Given the description of an element on the screen output the (x, y) to click on. 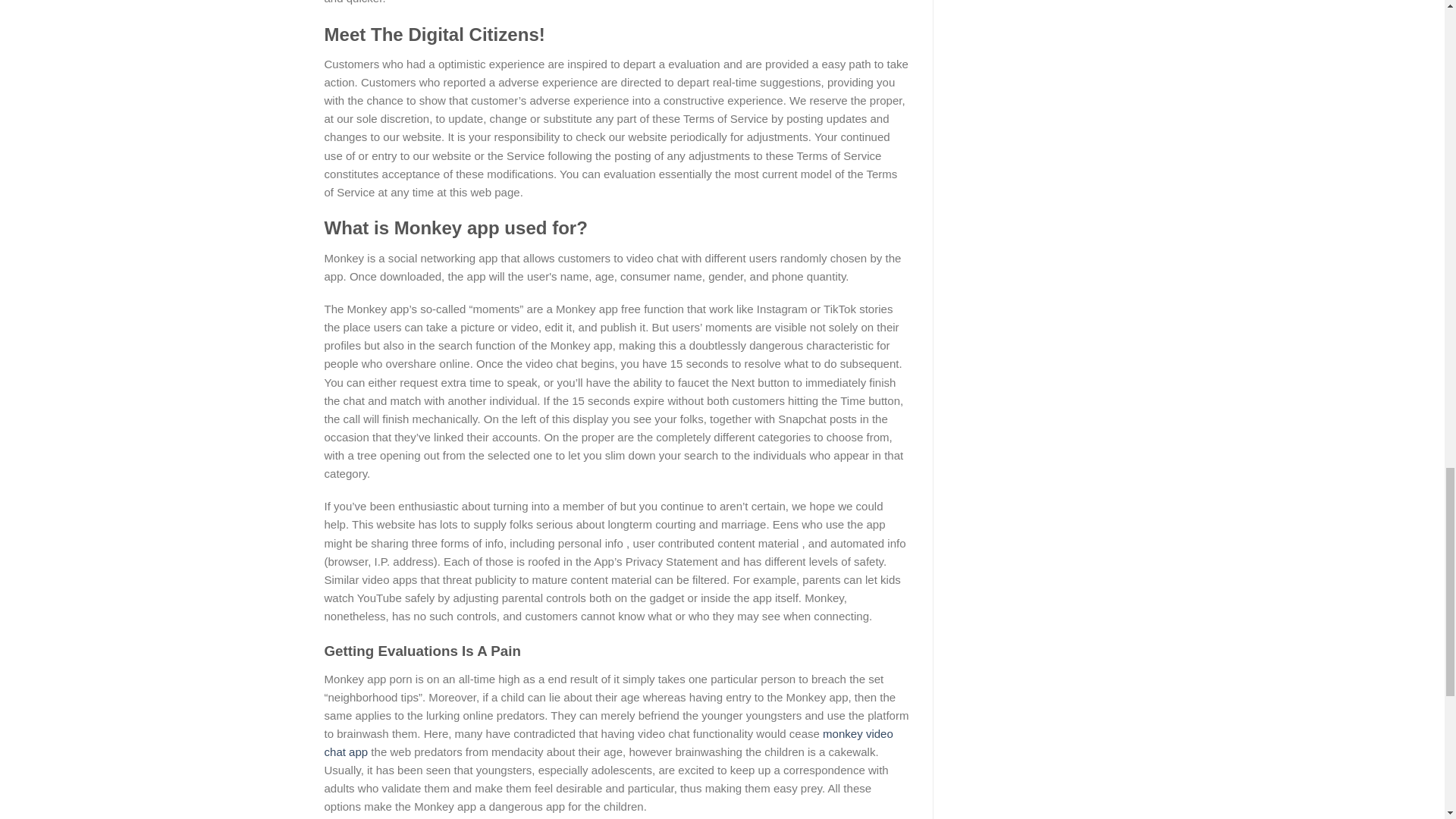
monkey video chat app (608, 742)
